Given the description of an element on the screen output the (x, y) to click on. 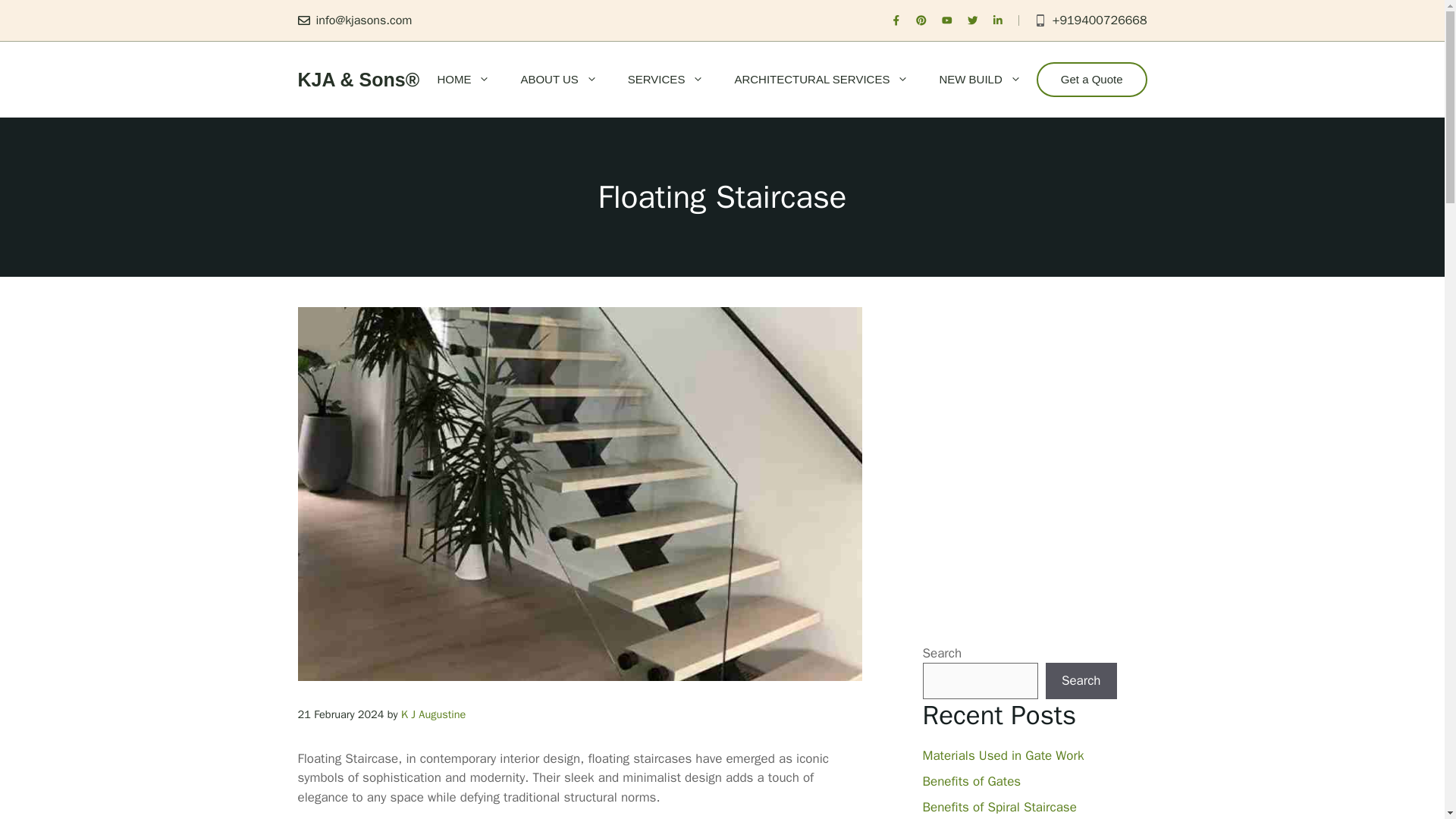
SERVICES (665, 79)
ARCHITECTURAL SERVICES (821, 79)
HOME (463, 79)
View all posts by K J Augustine (433, 714)
ABOUT US (558, 79)
